Given the description of an element on the screen output the (x, y) to click on. 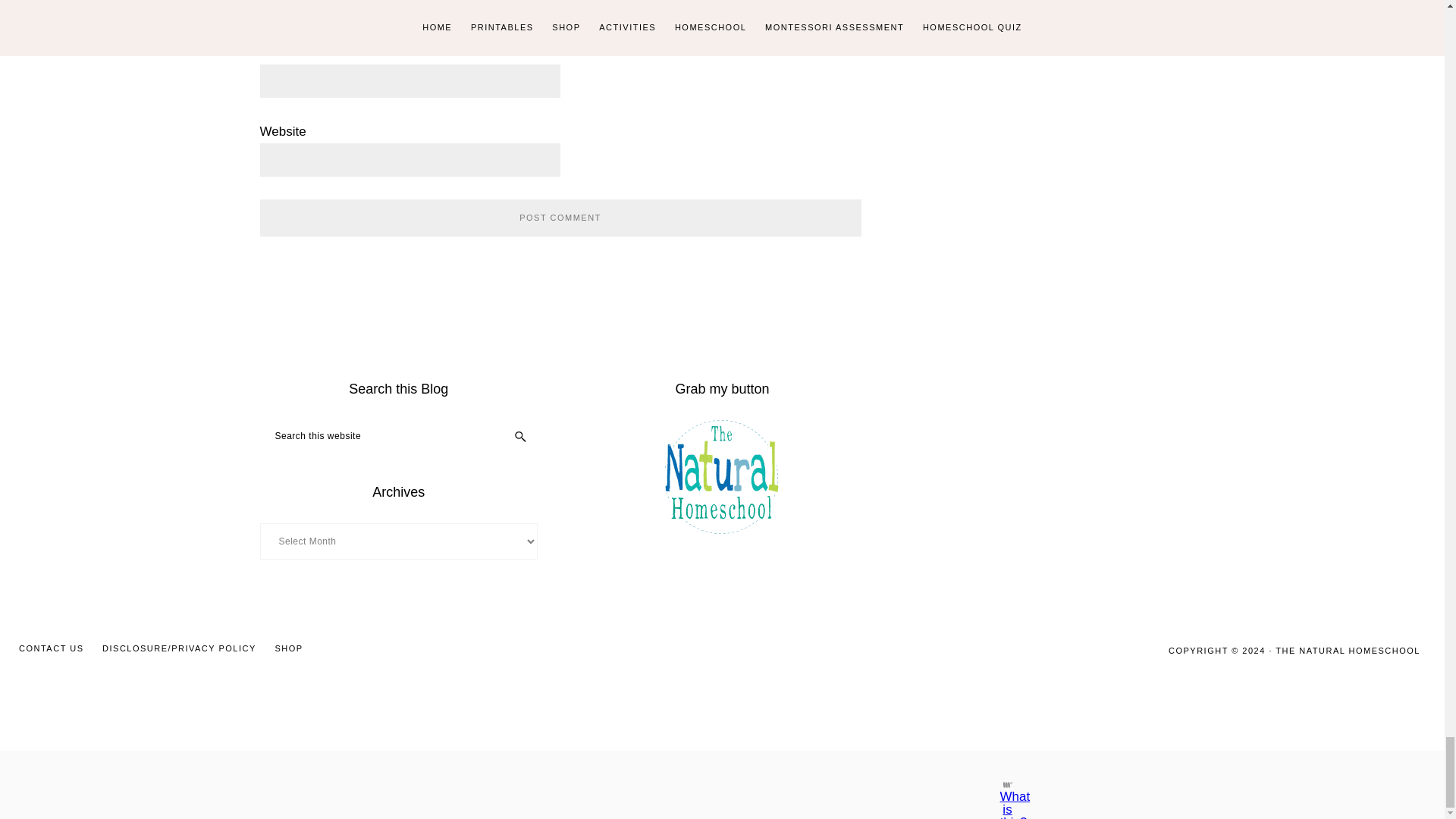
Post Comment (559, 217)
